Given the description of an element on the screen output the (x, y) to click on. 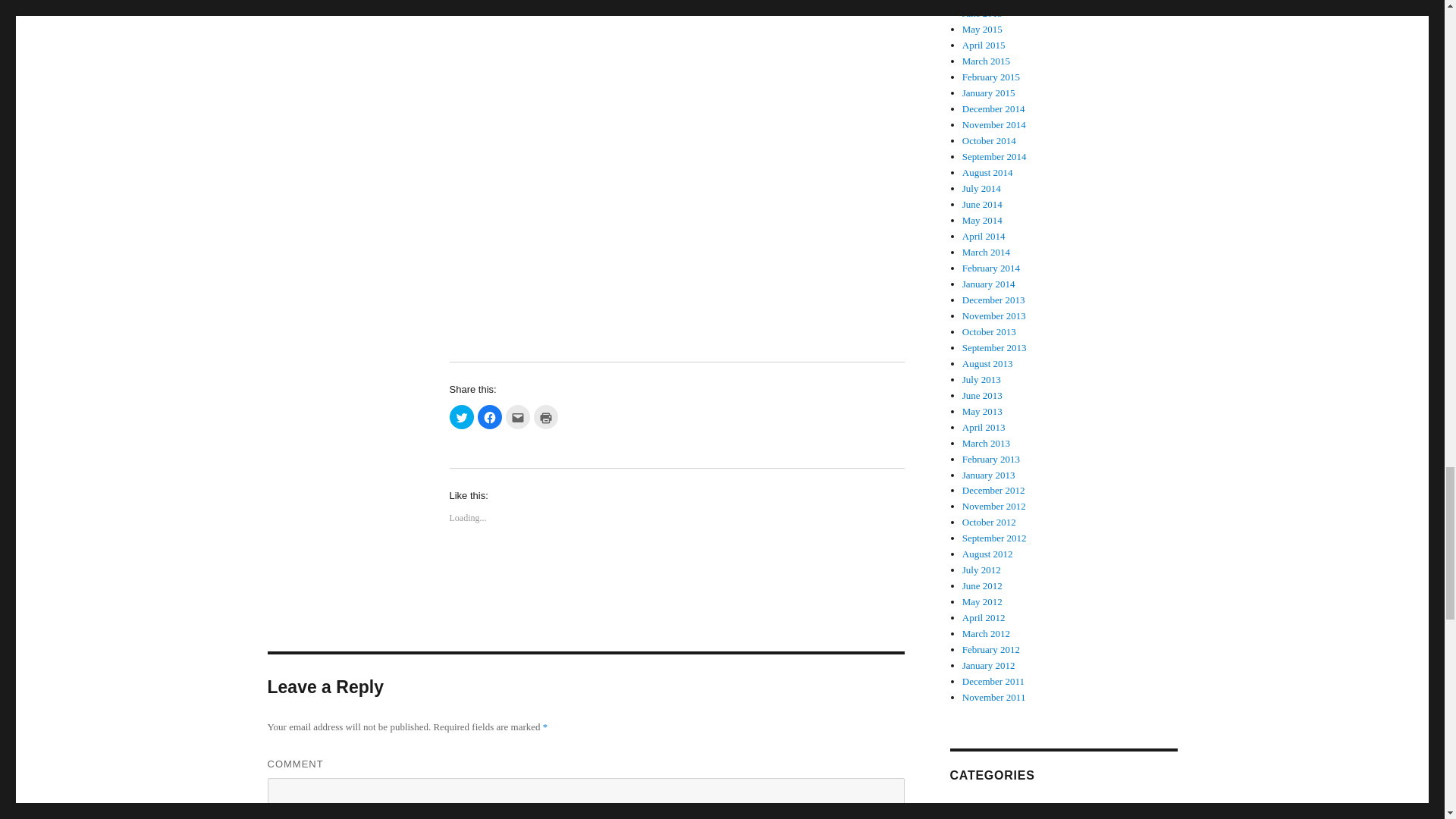
Click to share on Twitter (460, 416)
Click to email this to a friend (517, 416)
Click to share on Facebook (489, 416)
Click to print (545, 416)
